Given the description of an element on the screen output the (x, y) to click on. 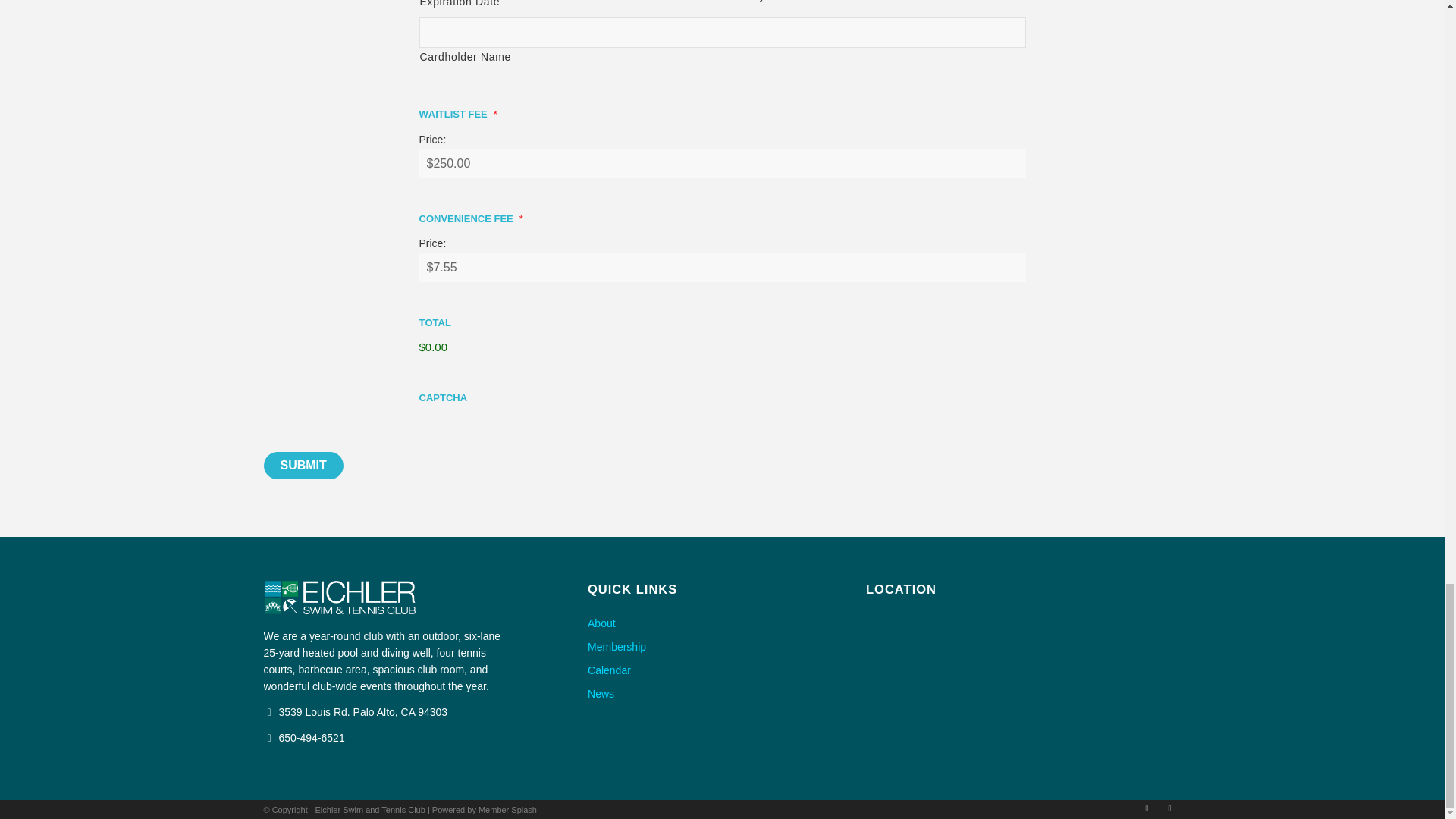
About (722, 623)
Powered by Member Splash (484, 809)
Calendar (722, 670)
Submit (303, 465)
Submit (303, 465)
News (722, 693)
Membership (722, 647)
